Given the description of an element on the screen output the (x, y) to click on. 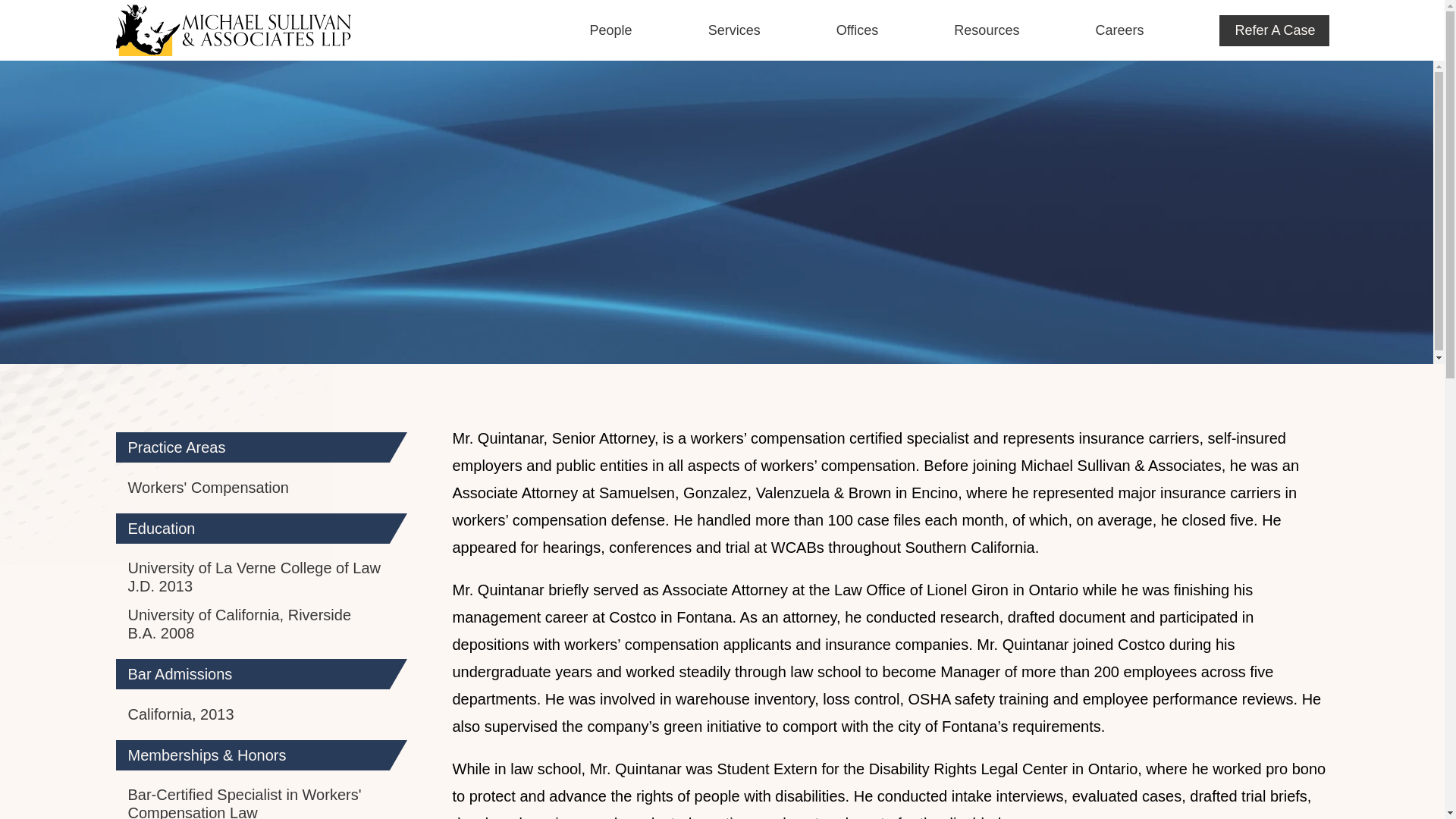
Services (695, 41)
Resources (948, 26)
Careers (1080, 26)
Workers' Compensation (208, 492)
People (572, 26)
Refer A Case (1273, 30)
Offices (819, 26)
